Given the description of an element on the screen output the (x, y) to click on. 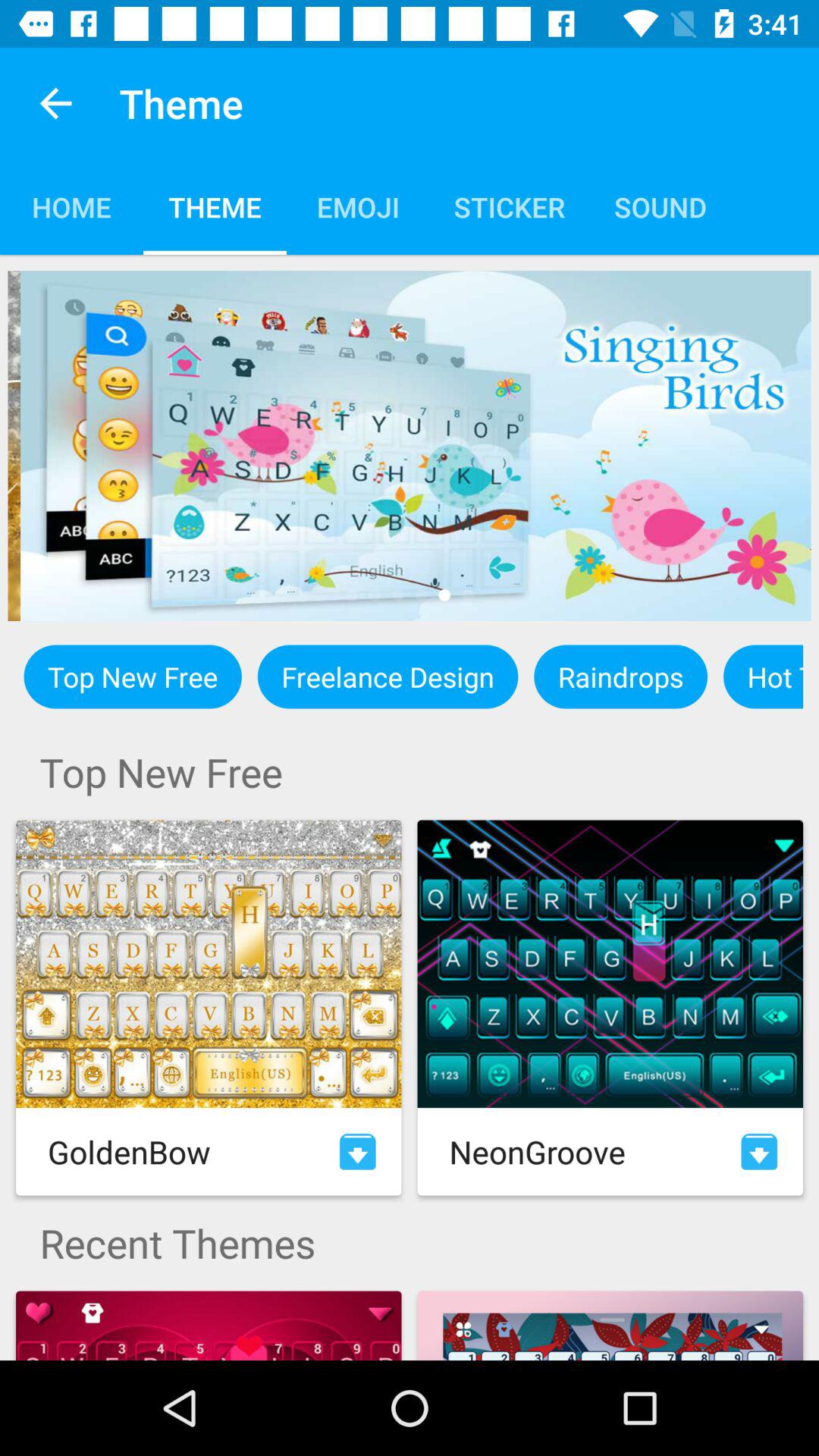
download this (357, 1151)
